Given the description of an element on the screen output the (x, y) to click on. 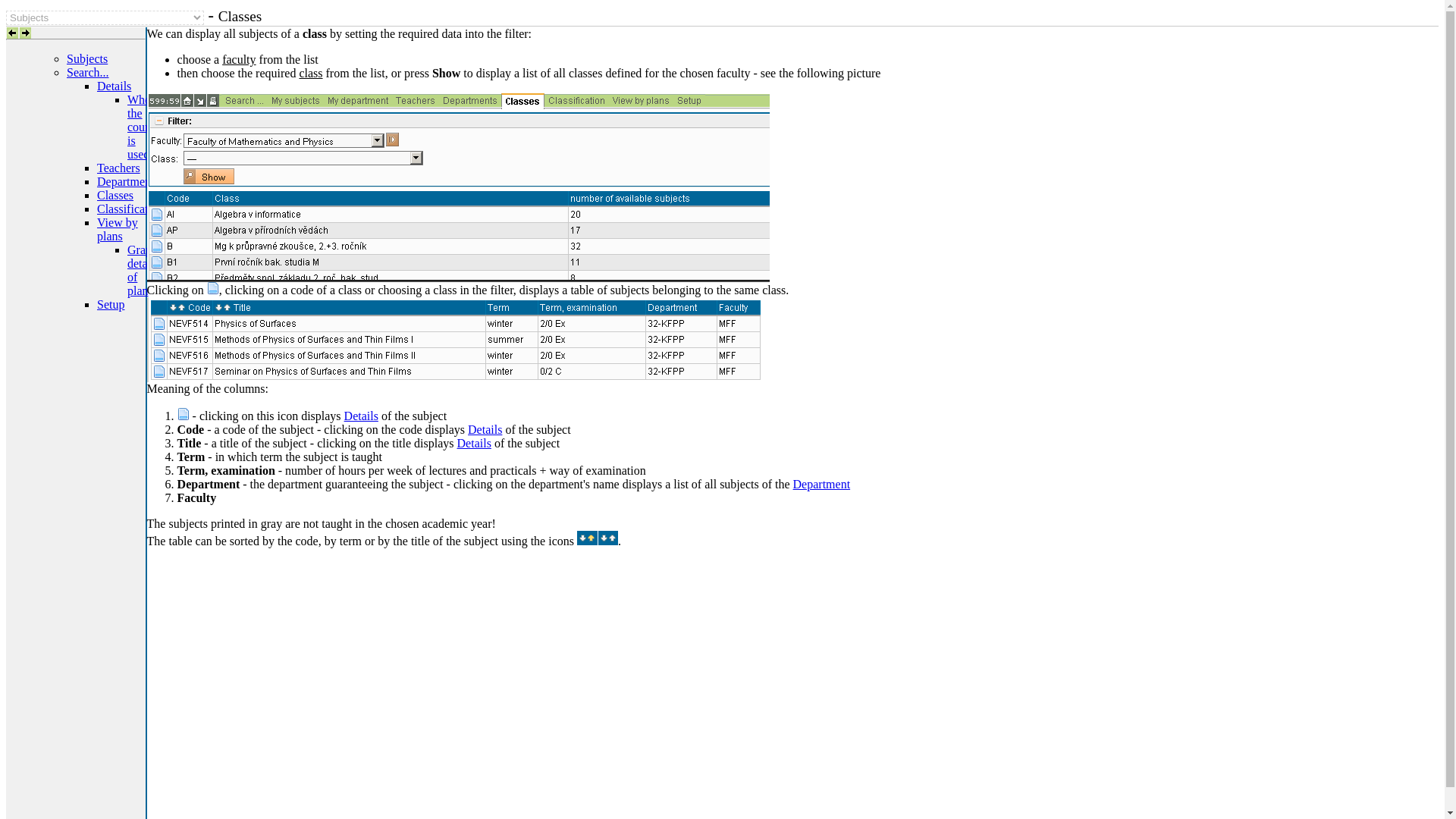
Details (484, 429)
1682.png (454, 339)
Classes (115, 195)
Department (125, 181)
1403.png (212, 287)
1681.png (458, 186)
Details (474, 442)
Search... (87, 72)
Classification (130, 208)
1483.png (596, 537)
Setup (110, 304)
Subjects (86, 58)
Department (821, 483)
1403.png (183, 413)
Teachers (118, 167)
